Given the description of an element on the screen output the (x, y) to click on. 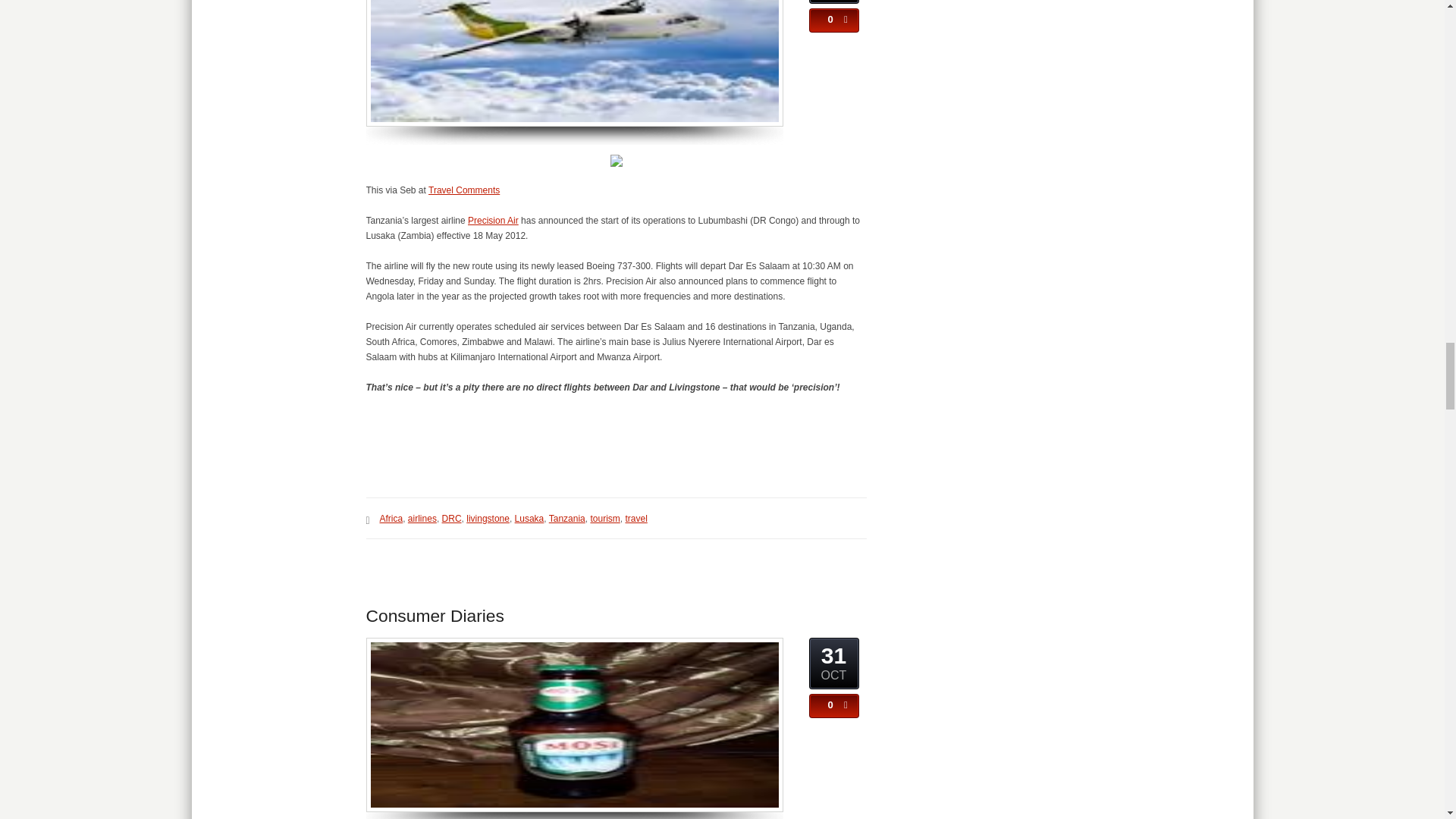
Consumer Diaries (434, 615)
